Given the description of an element on the screen output the (x, y) to click on. 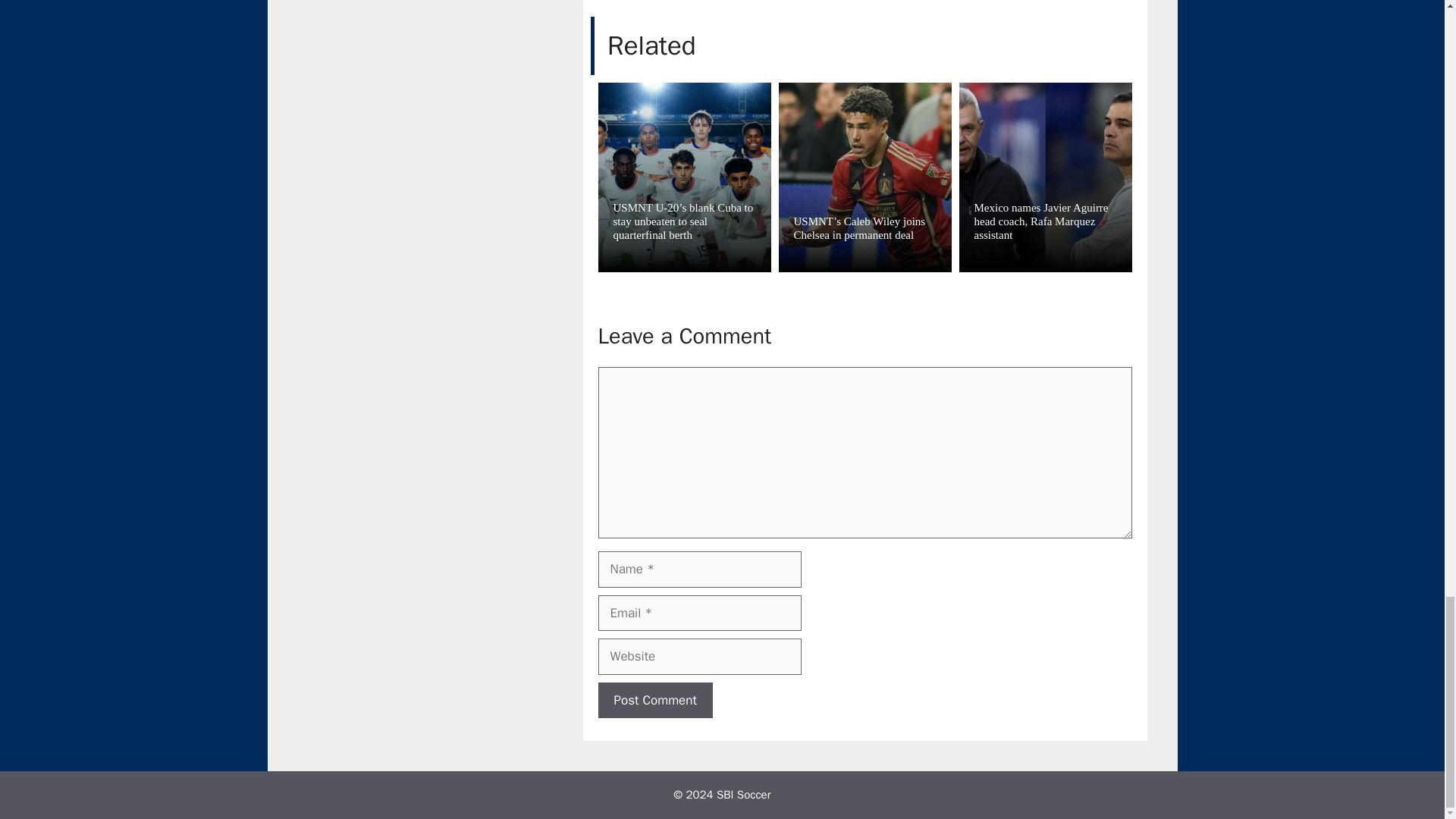
Post Comment (653, 700)
